Given the description of an element on the screen output the (x, y) to click on. 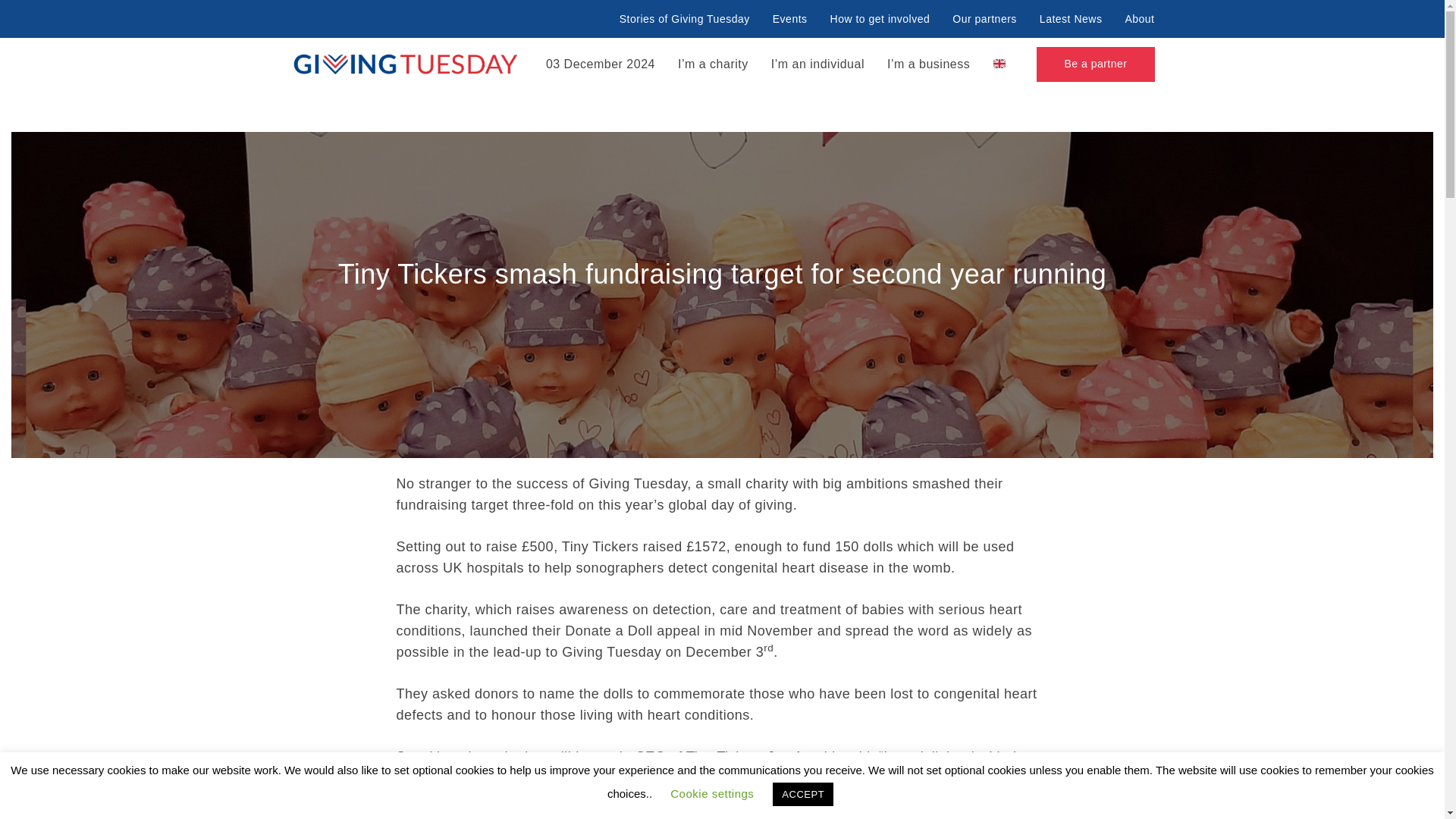
03 December 2024 (600, 69)
Stories of Giving Tuesday (688, 14)
About (1139, 14)
How to get involved (880, 14)
Be a partner (1095, 63)
Events (789, 14)
Latest News (1070, 14)
Our partners (983, 14)
